Given the description of an element on the screen output the (x, y) to click on. 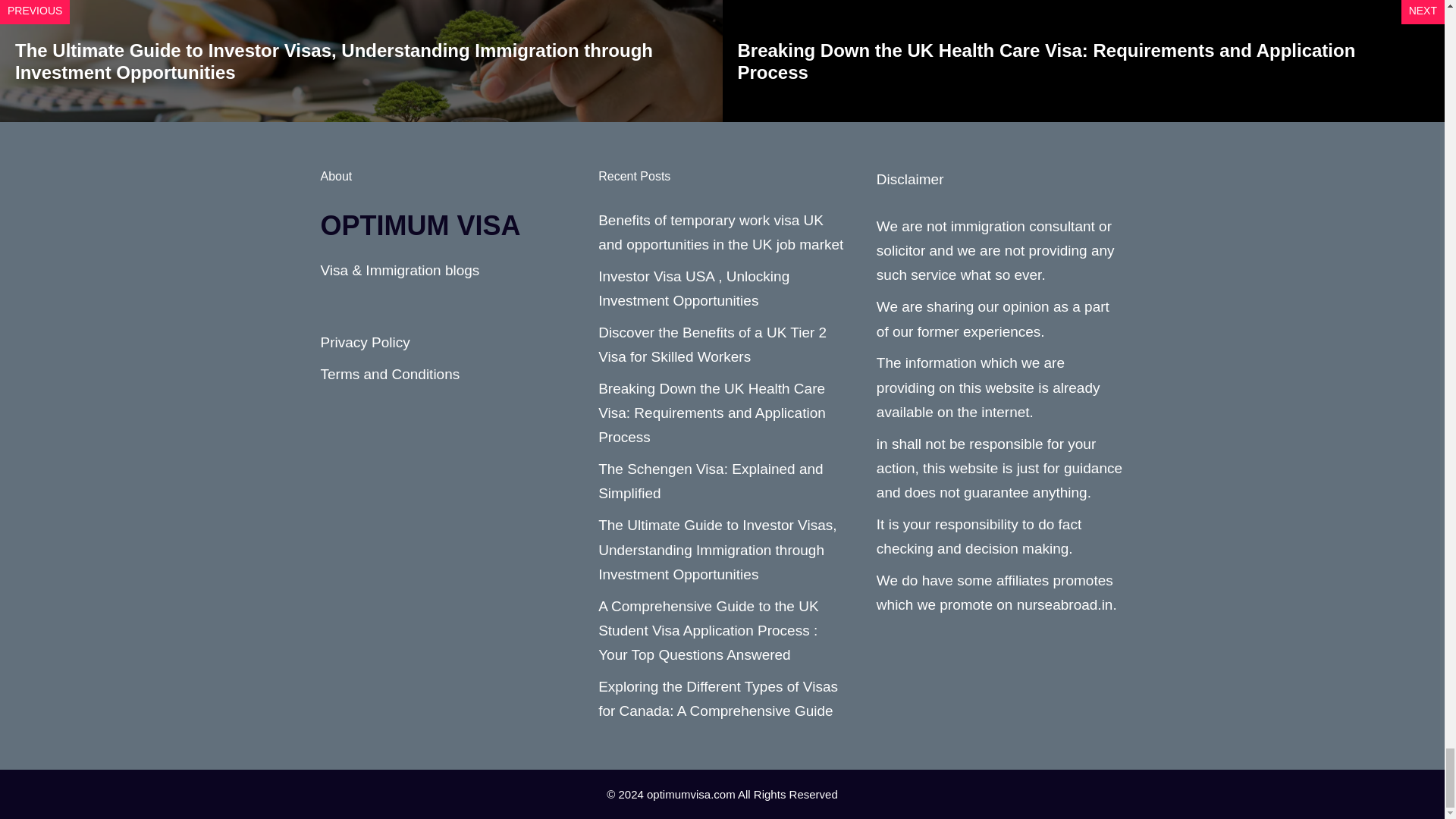
Terms and Conditions (390, 374)
Privacy Policy (364, 342)
